Given the description of an element on the screen output the (x, y) to click on. 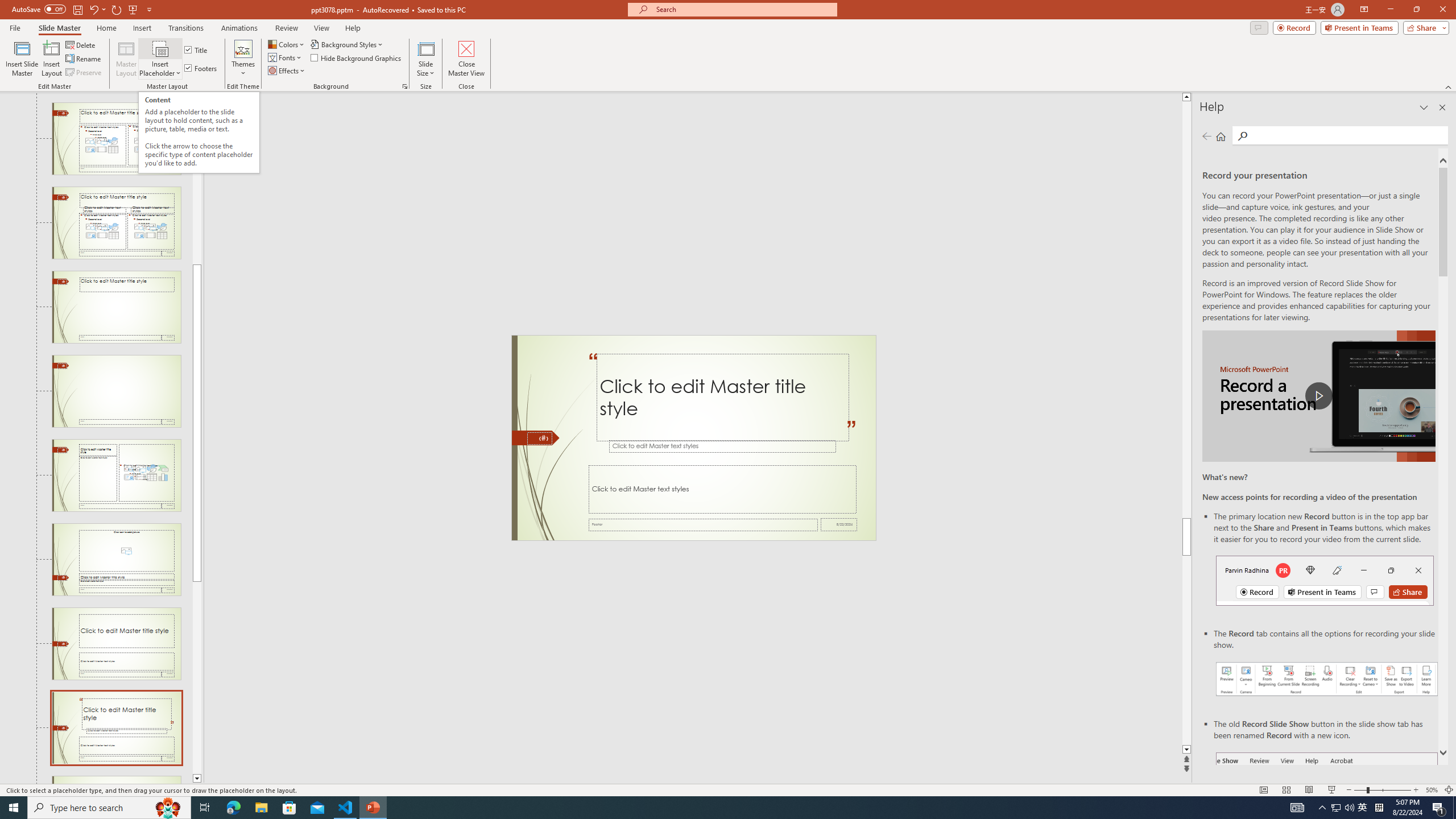
Freeform 11 (535, 437)
Rename (84, 58)
Slide Content with Caption Layout: used by no slides (116, 475)
Hide Background Graphics (356, 56)
Slide Blank Layout: used by no slides (116, 391)
